Given the description of an element on the screen output the (x, y) to click on. 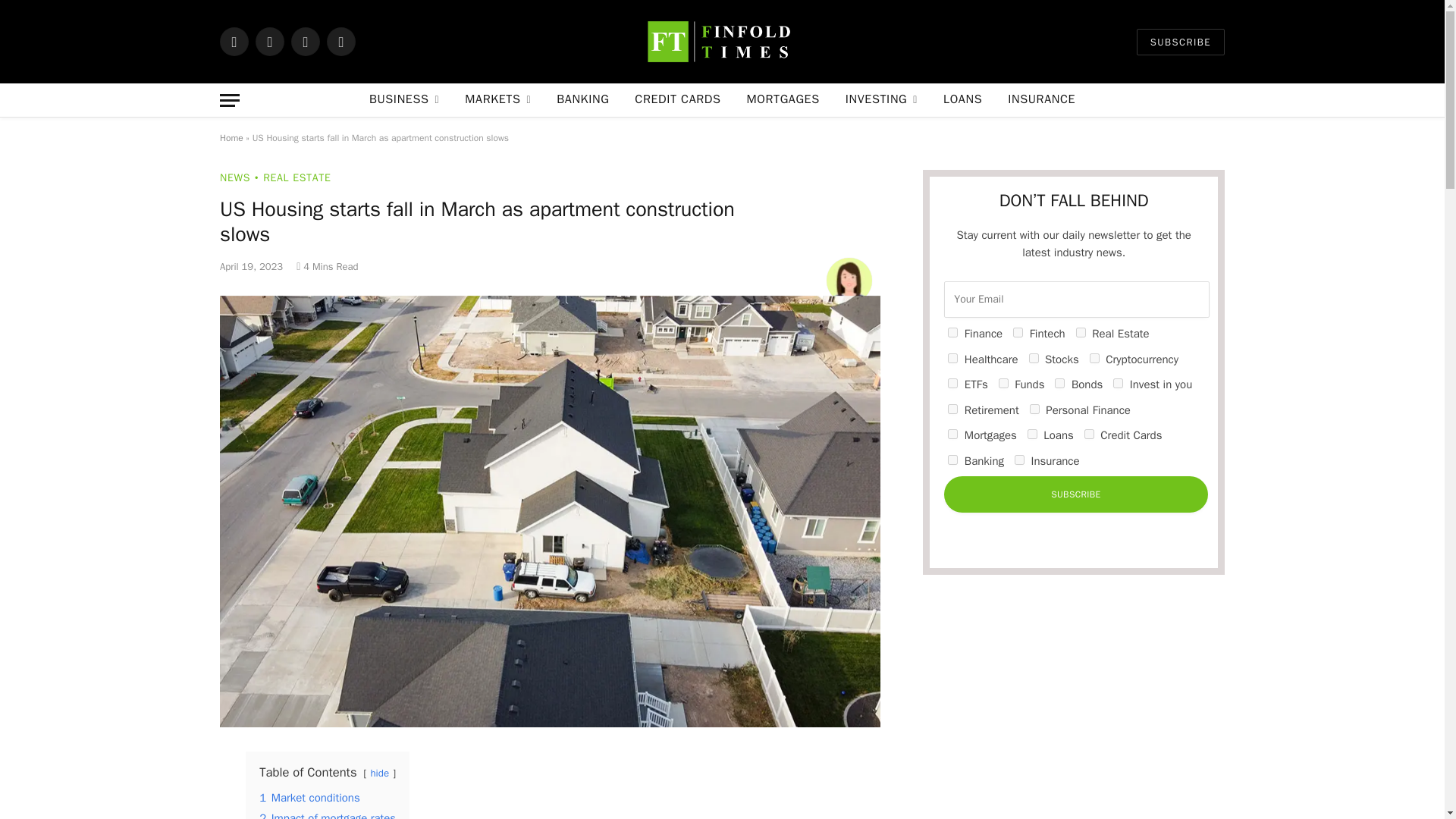
Instagram (305, 41)
Credit Cards (1089, 433)
Banking (952, 460)
Loans (1031, 433)
Subscribe (1075, 493)
Insurance (1019, 460)
Facebook (233, 41)
Personal Finance (1034, 409)
Finfold Times (721, 41)
